Given the description of an element on the screen output the (x, y) to click on. 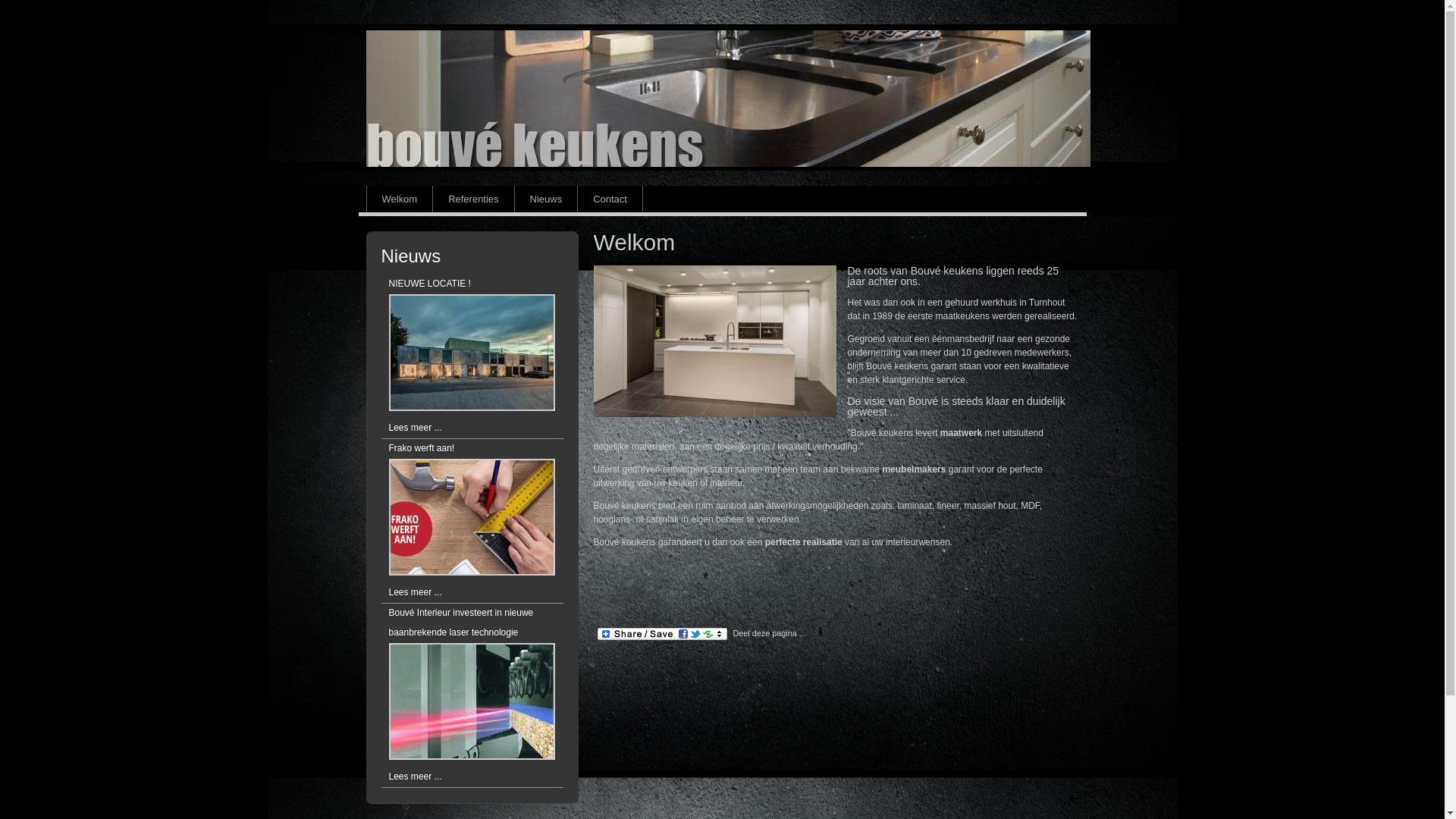
Frako werft aan! Element type: text (421, 447)
Lees meer ... Element type: text (414, 591)
Referenties Element type: text (472, 198)
Deel deze pagina ... Element type: text (699, 632)
NIEUWE LOCATIE ! Element type: text (429, 283)
Welkom Element type: text (398, 198)
Lees meer ... Element type: text (414, 427)
Lees meer ... Element type: text (414, 776)
Nieuws Element type: text (545, 198)
Contact Element type: text (609, 198)
